Given the description of an element on the screen output the (x, y) to click on. 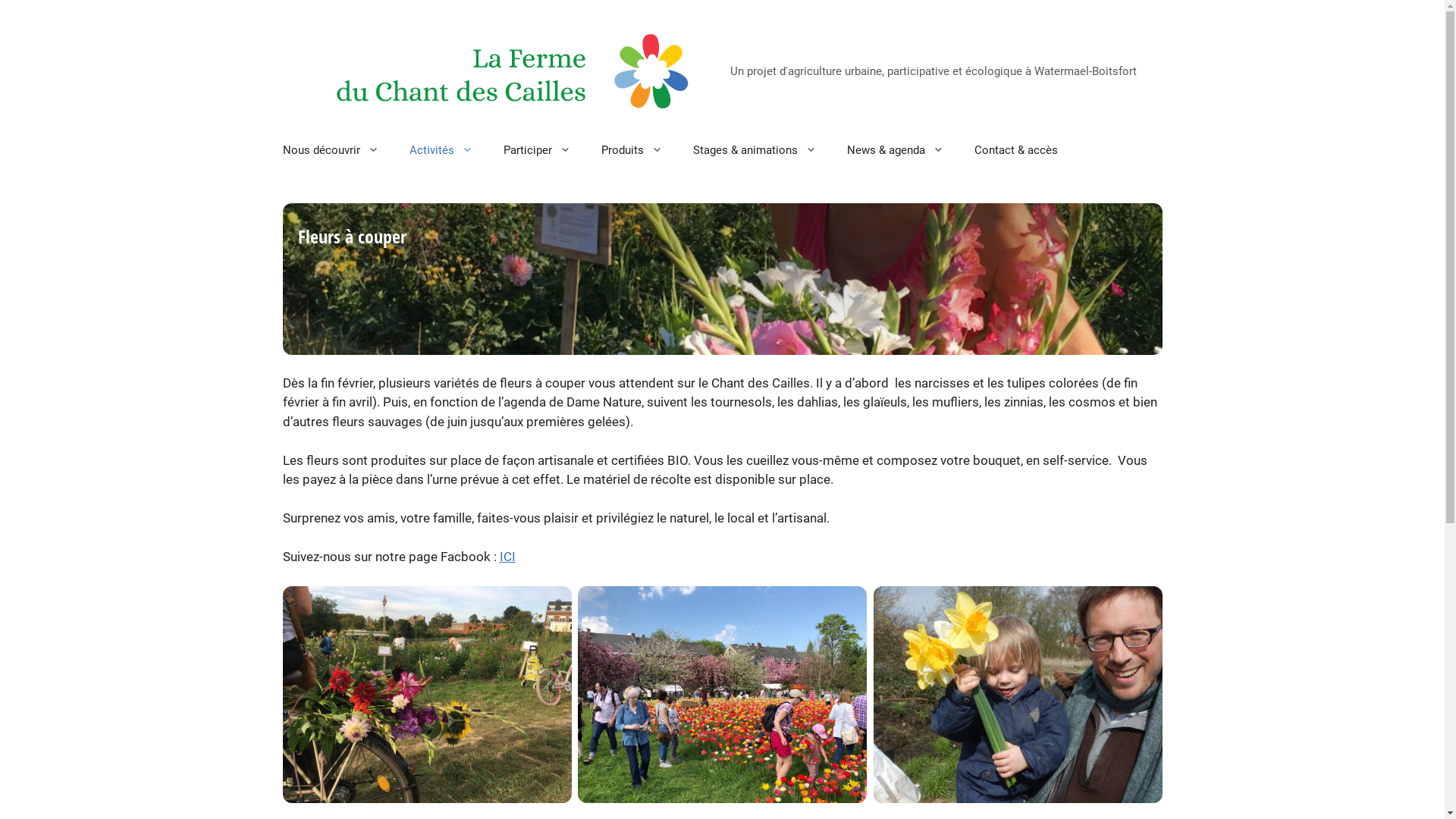
Stages & animations Element type: text (754, 149)
News & agenda Element type: text (894, 149)
Produits Element type: text (631, 149)
ICI Element type: text (506, 556)
Participer Element type: text (537, 149)
